Given the description of an element on the screen output the (x, y) to click on. 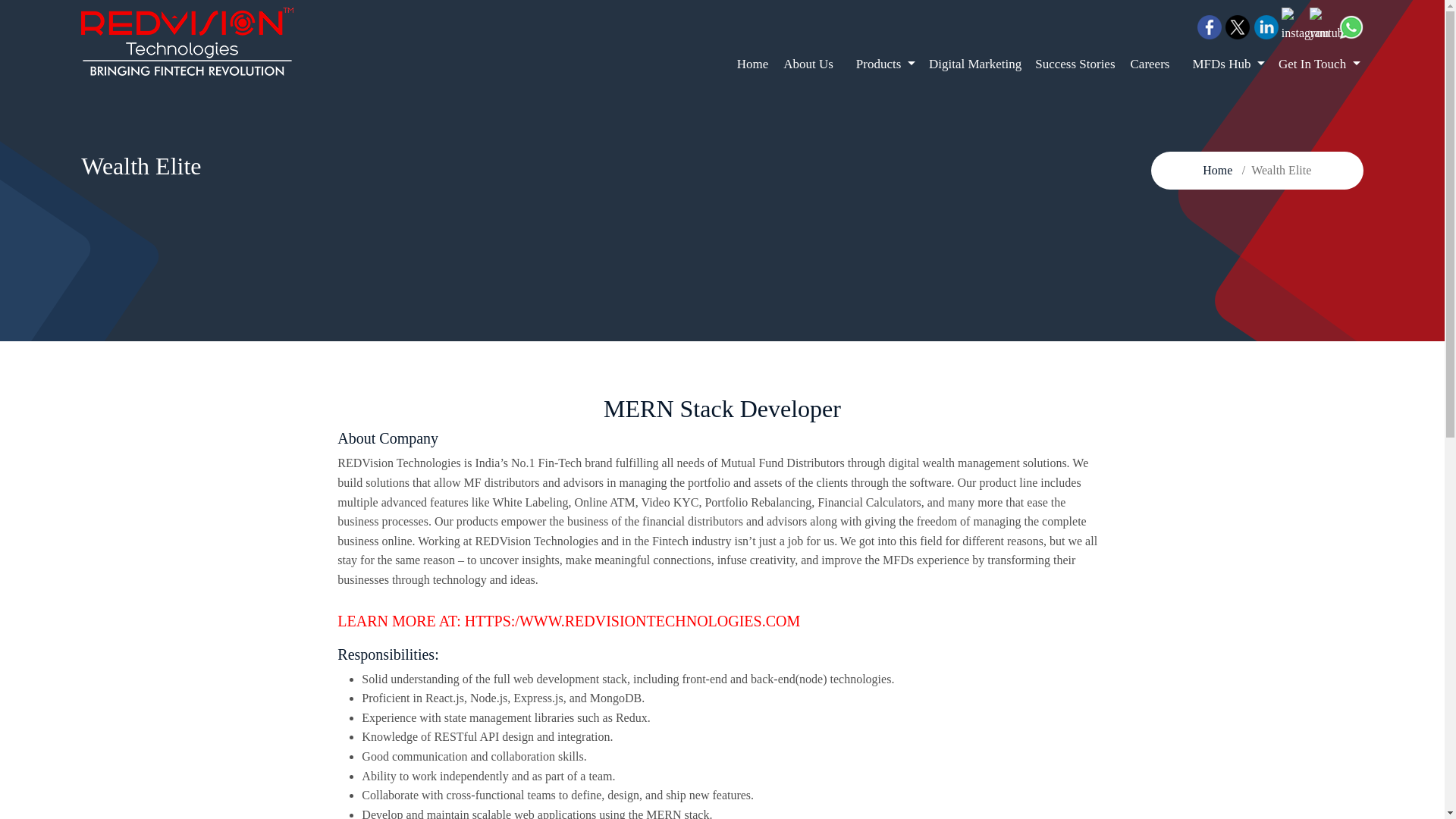
Home (748, 63)
Careers (1150, 63)
Digital Marketing (971, 63)
About Us (808, 63)
Home (1216, 169)
Success Stories (1071, 63)
MFDs Hub (1224, 63)
Products (881, 63)
Get In Touch (1315, 63)
